Given the description of an element on the screen output the (x, y) to click on. 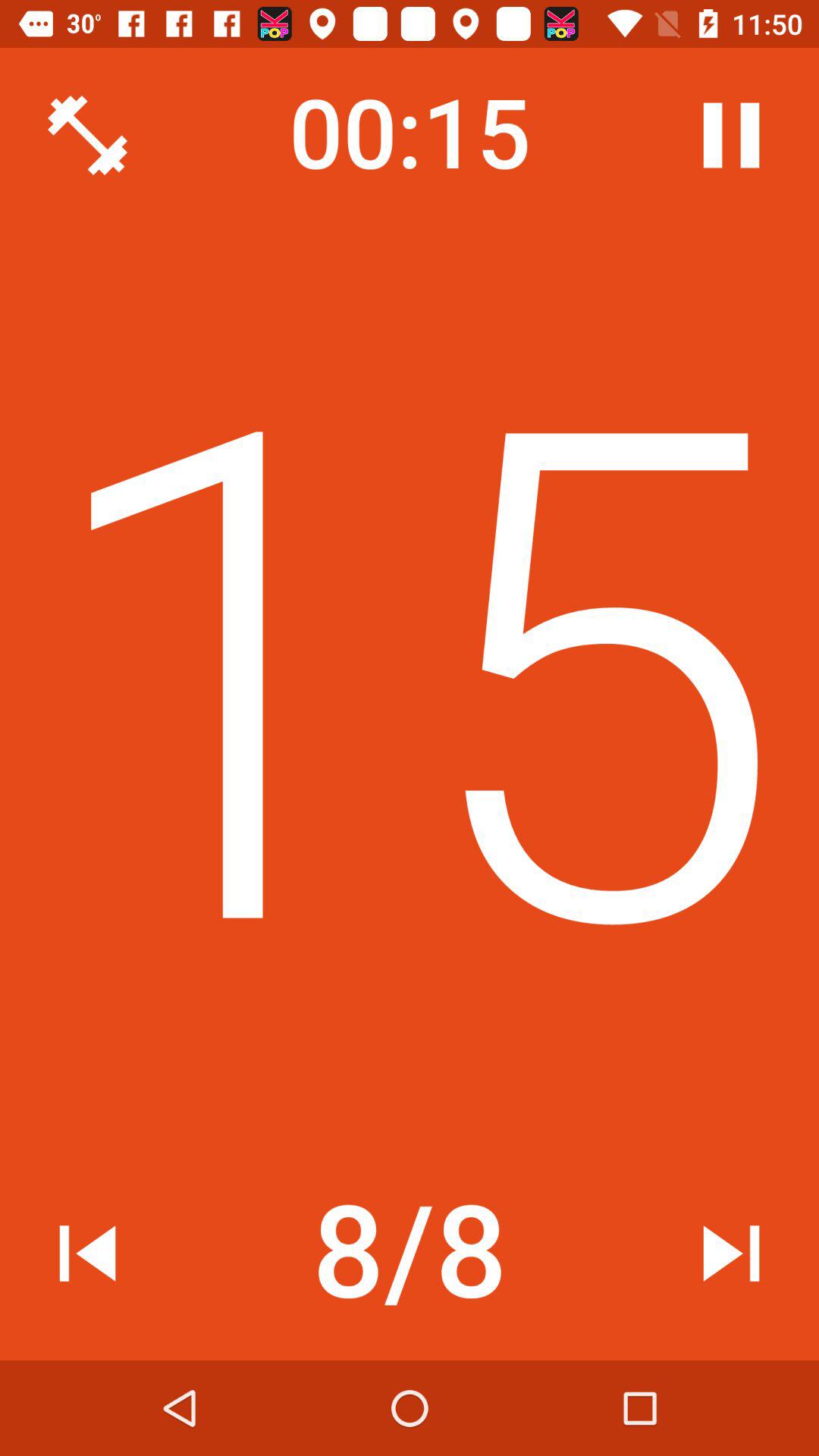
turn off item to the left of 00:14 icon (87, 135)
